Given the description of an element on the screen output the (x, y) to click on. 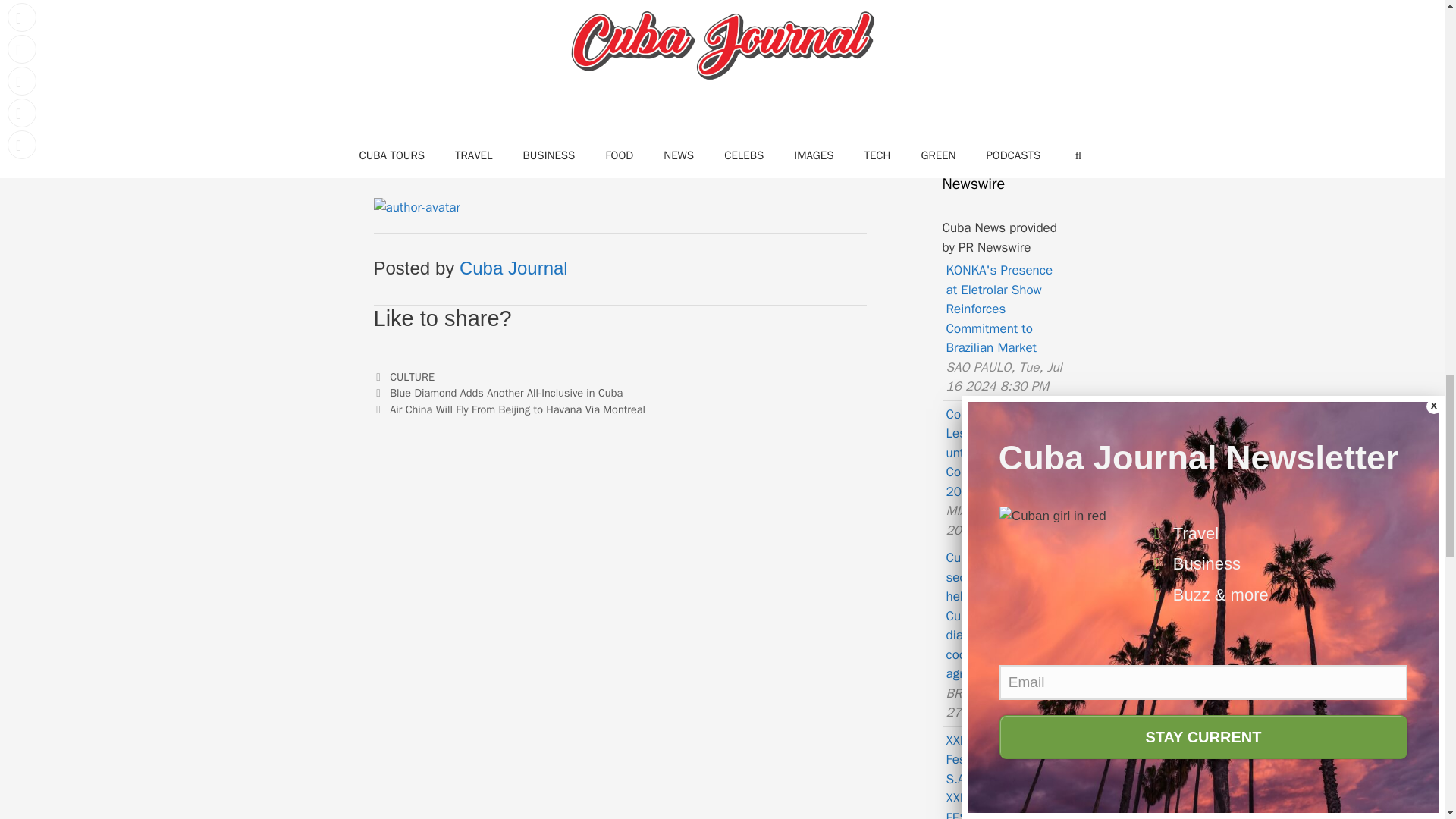
Posted byCuba Journal  (416, 207)
Posted byCuba Journal  (513, 267)
Previous (497, 392)
Next (508, 409)
YouTube player (619, 29)
Cuba Journal (513, 267)
